Given the description of an element on the screen output the (x, y) to click on. 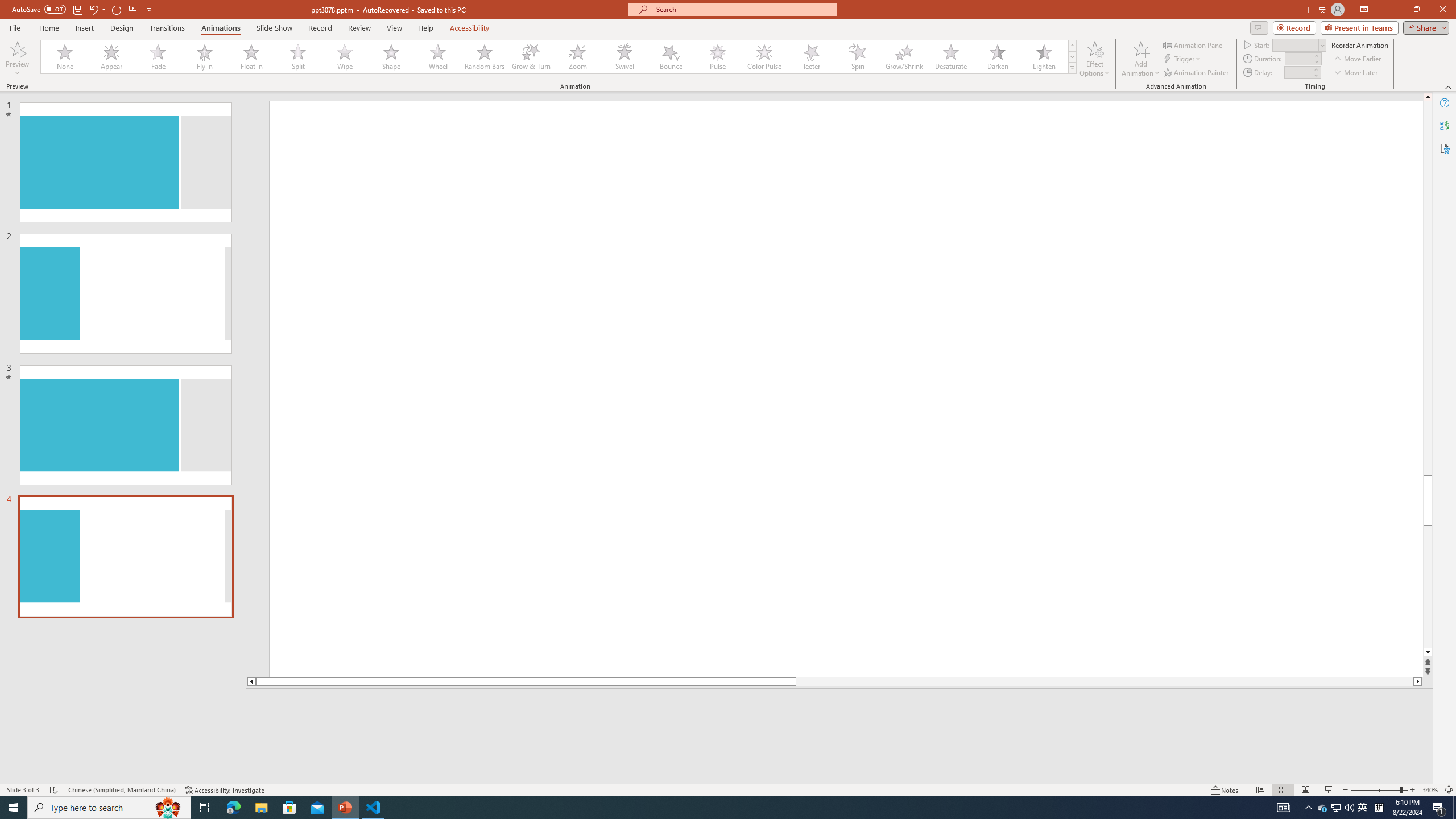
Darken (997, 56)
Desaturate (950, 56)
Trigger (1182, 58)
Animation Pane (1193, 44)
AutomationID: AnimationGallery (558, 56)
Animation Duration (1298, 58)
